Given the description of an element on the screen output the (x, y) to click on. 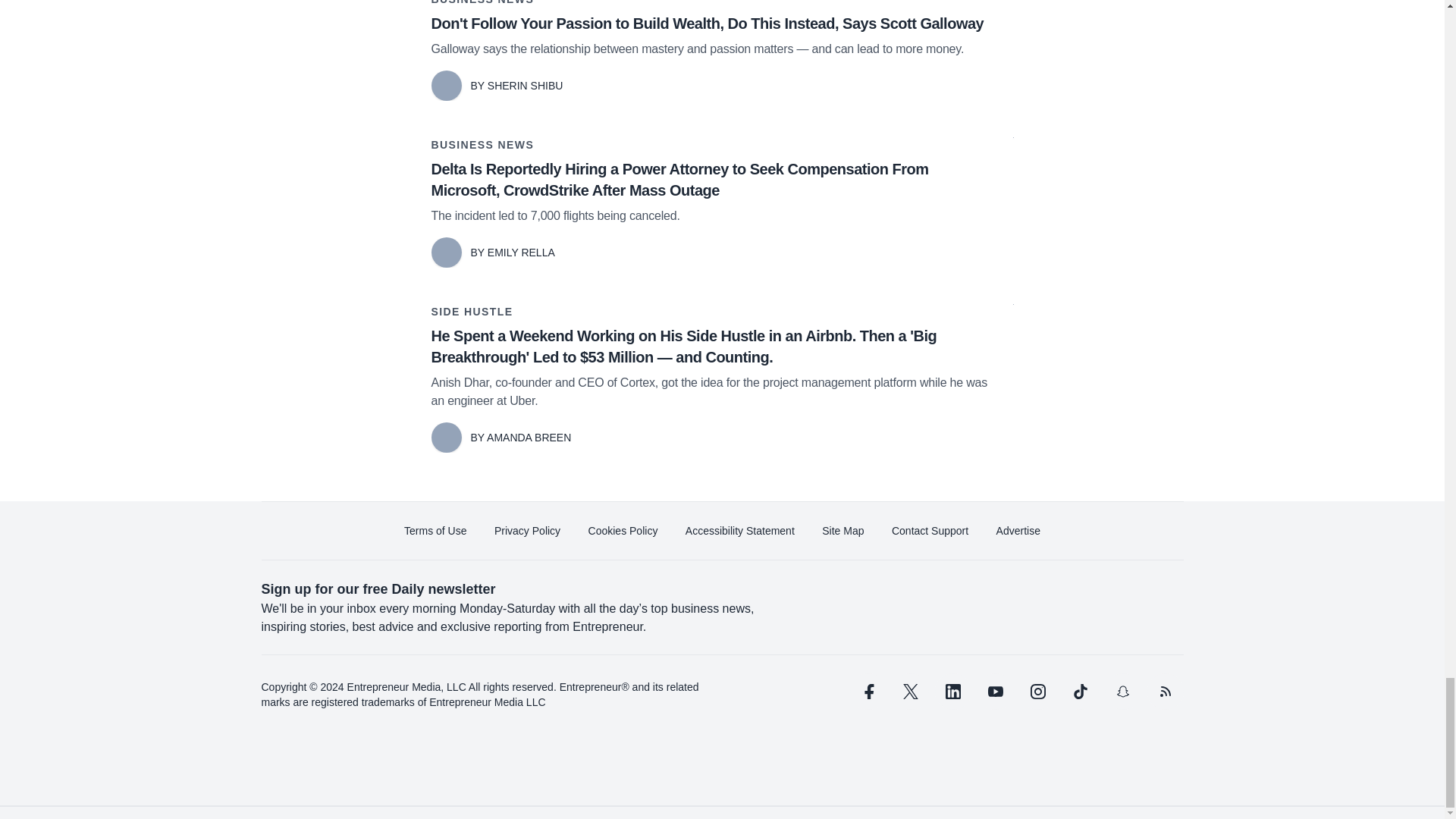
instagram (1037, 691)
facebook (866, 691)
linkedin (952, 691)
tiktok (1079, 691)
snapchat (1121, 691)
twitter (909, 691)
youtube (994, 691)
